Given the description of an element on the screen output the (x, y) to click on. 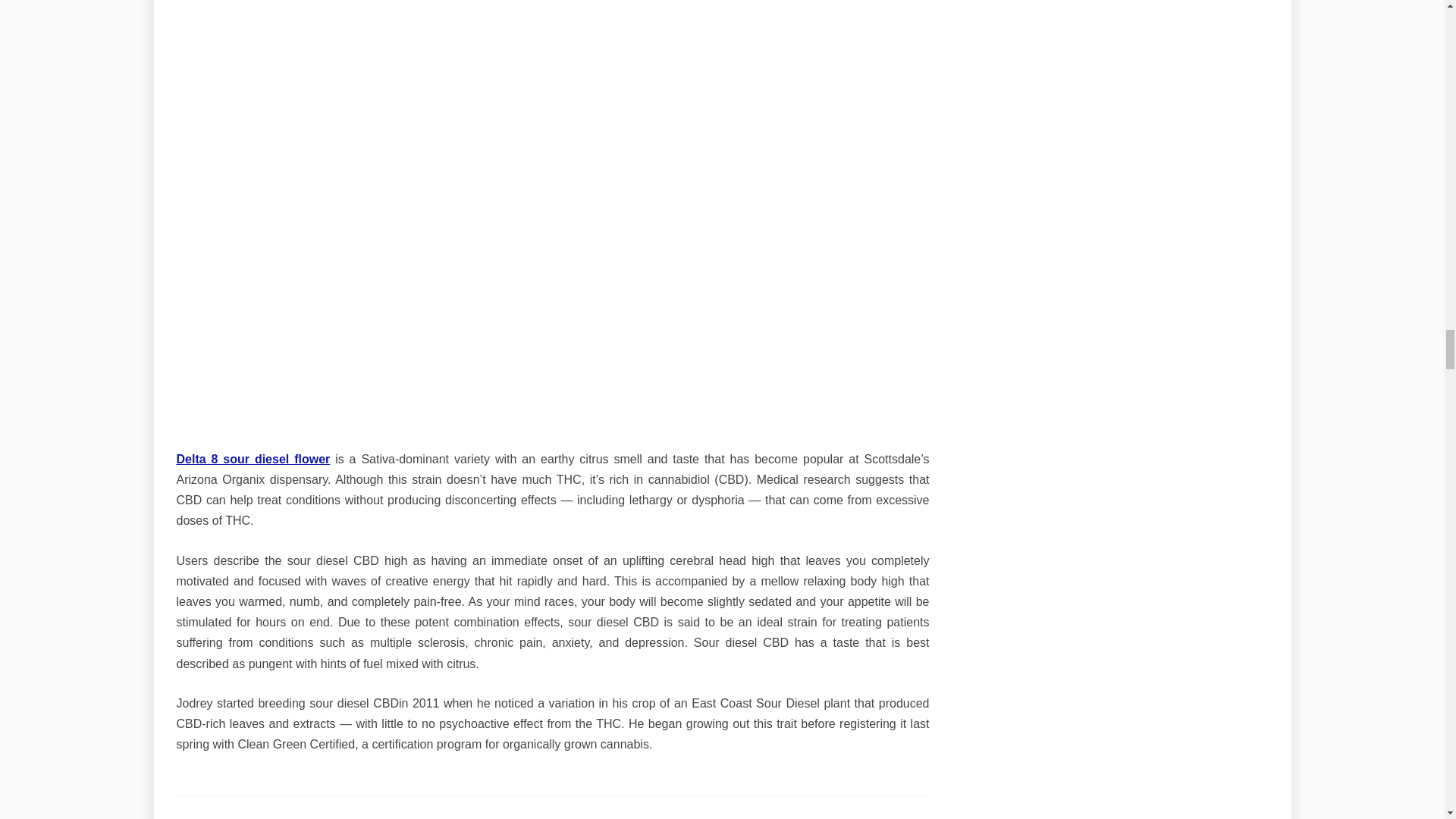
Delta 8 sour diesel flower (253, 459)
